Given the description of an element on the screen output the (x, y) to click on. 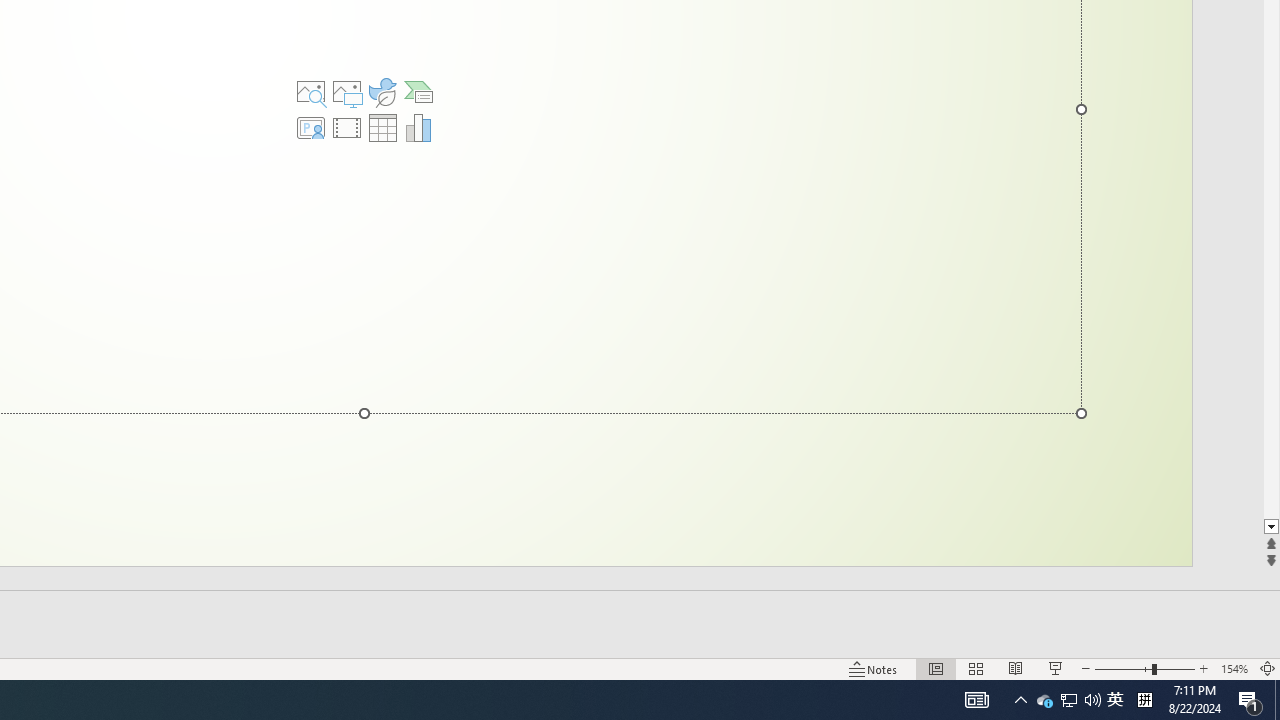
Zoom 154% (1234, 668)
